Given the description of an element on the screen output the (x, y) to click on. 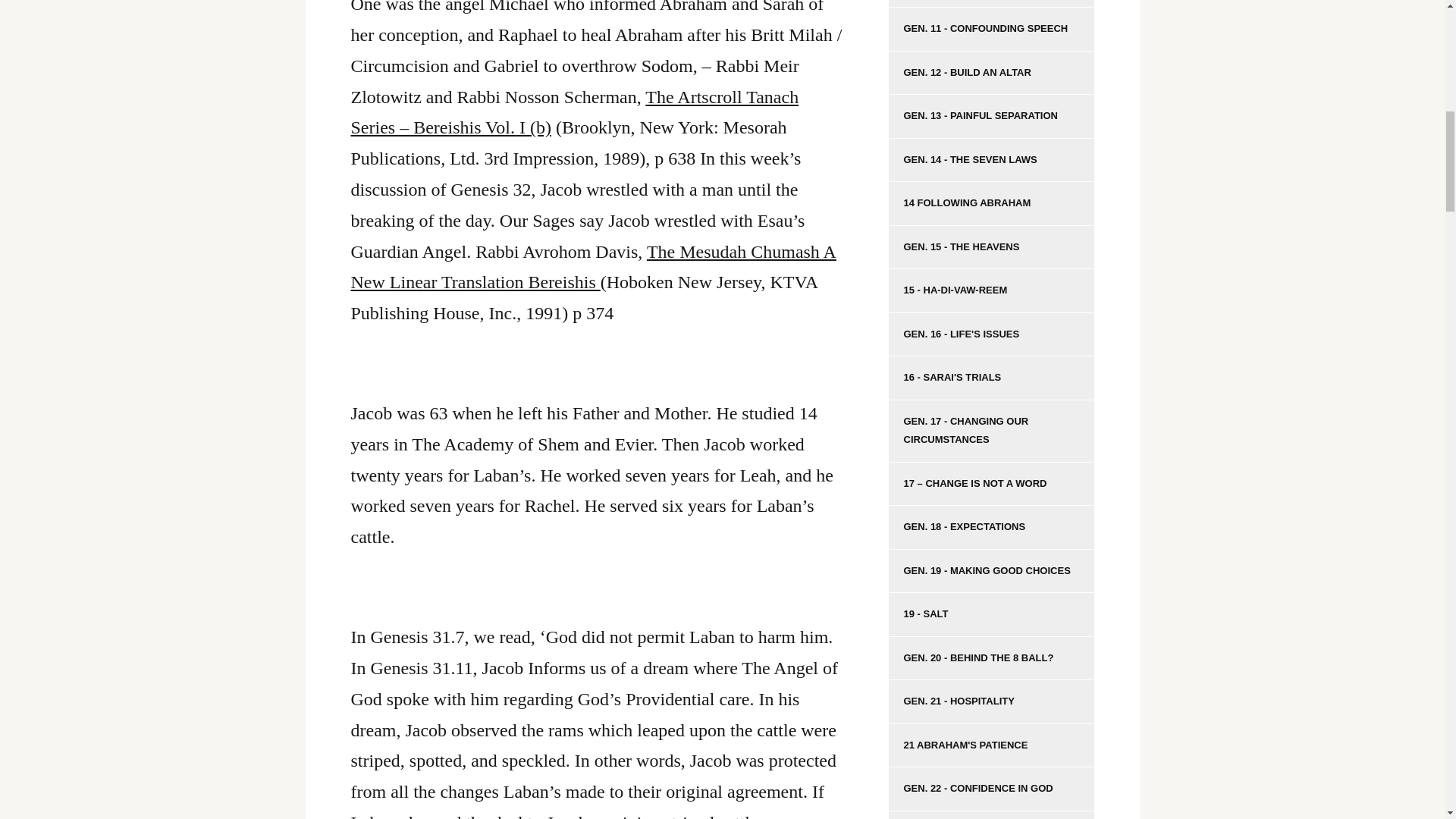
21 ABRAHAM'S PATIENCE (991, 745)
14 FOLLOWING ABRAHAM (991, 203)
GEN. 14 - THE SEVEN LAWS (991, 160)
GEN. 21 - HOSPITALITY (991, 701)
GEN. 19 - MAKING GOOD CHOICES (991, 571)
GEN. 17 - CHANGING OUR CIRCUMSTANCES (991, 431)
GEN. 11 - CONFOUNDING SPEECH (991, 29)
GEN. 20 - BEHIND THE 8 BALL? (991, 658)
10 - INVESTIGATION (991, 4)
15 - HA-DI-VAW-REEM (991, 290)
